Given the description of an element on the screen output the (x, y) to click on. 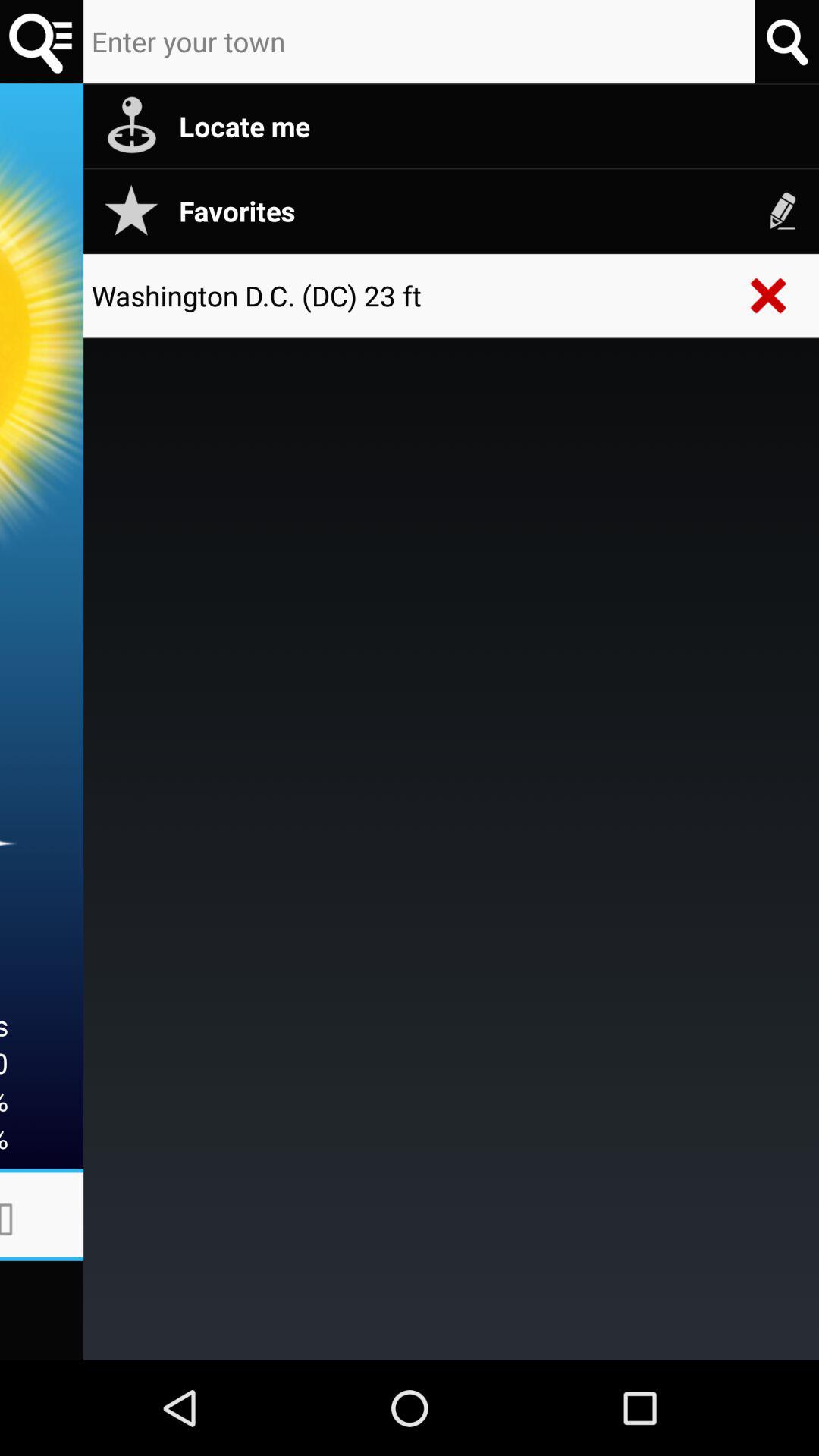
search and menu list (41, 41)
